Given the description of an element on the screen output the (x, y) to click on. 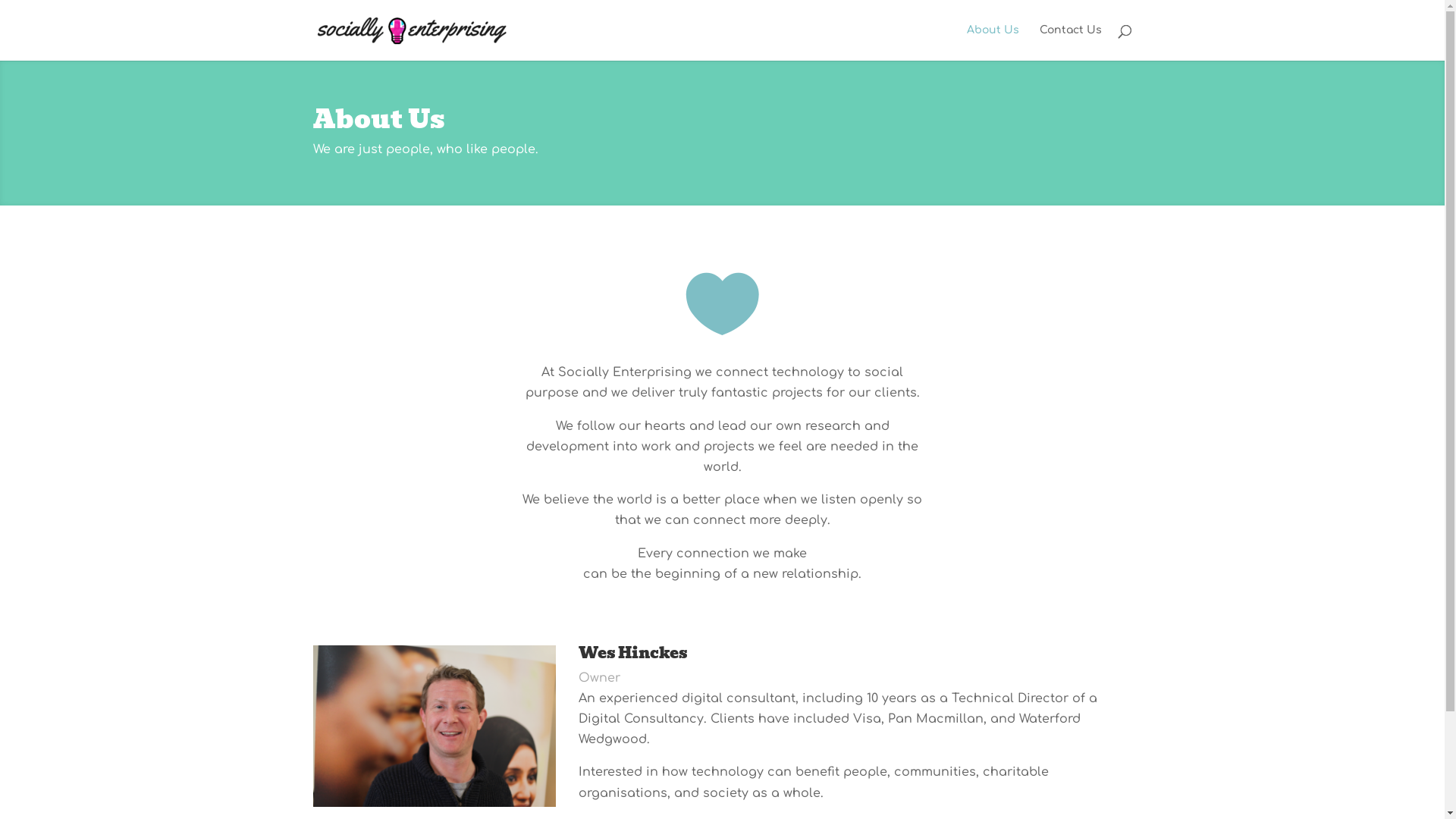
About Us Element type: text (992, 42)
Contact Us Element type: text (1069, 42)
